Given the description of an element on the screen output the (x, y) to click on. 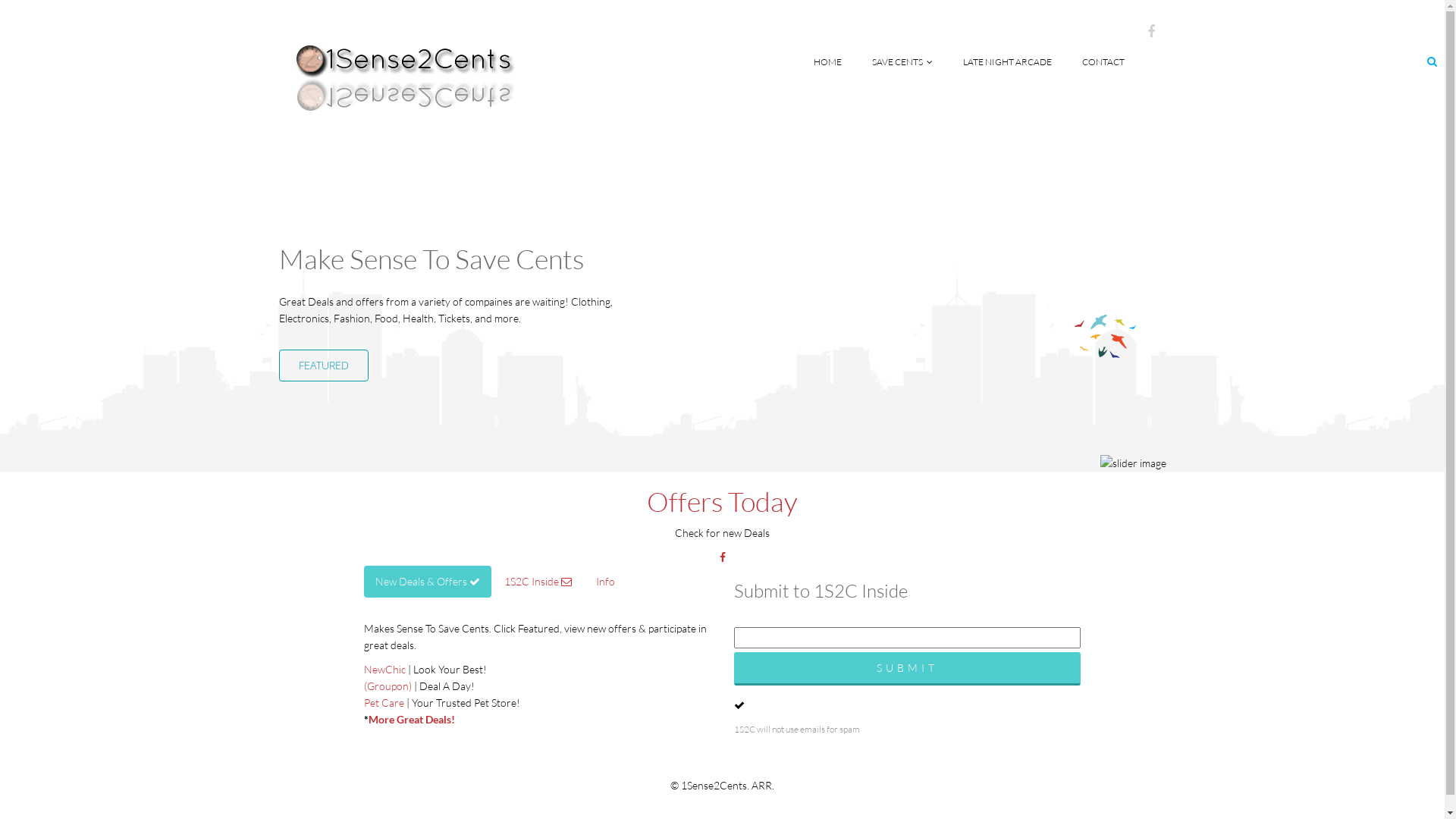
FEATURED Element type: text (323, 365)
Offers Today Element type: text (721, 500)
Info Element type: text (605, 581)
HOME Element type: text (826, 61)
LATE NIGHT ARCADE Element type: text (1006, 61)
New Deals & Offers Element type: text (427, 581)
Pet Care Element type: text (384, 702)
Submit Element type: text (907, 668)
SAVE CENTS Element type: text (901, 61)
1S2C Inside Element type: text (537, 581)
More Great Deals! Element type: text (411, 718)
NewChic Element type: text (384, 668)
CONTACT Element type: text (1102, 61)
(Groupon) Element type: text (387, 685)
